Given the description of an element on the screen output the (x, y) to click on. 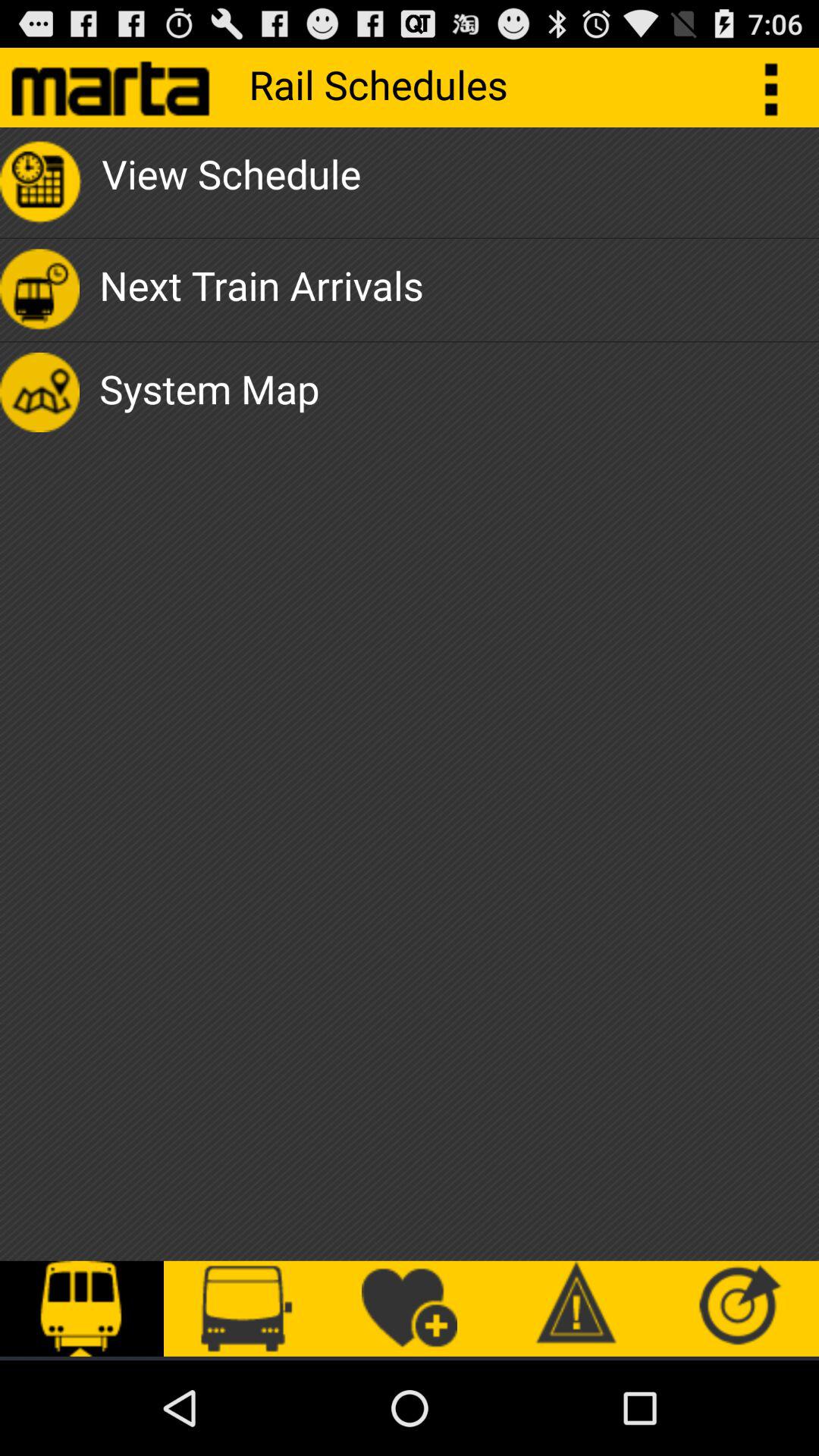
scroll to system map app (209, 392)
